Given the description of an element on the screen output the (x, y) to click on. 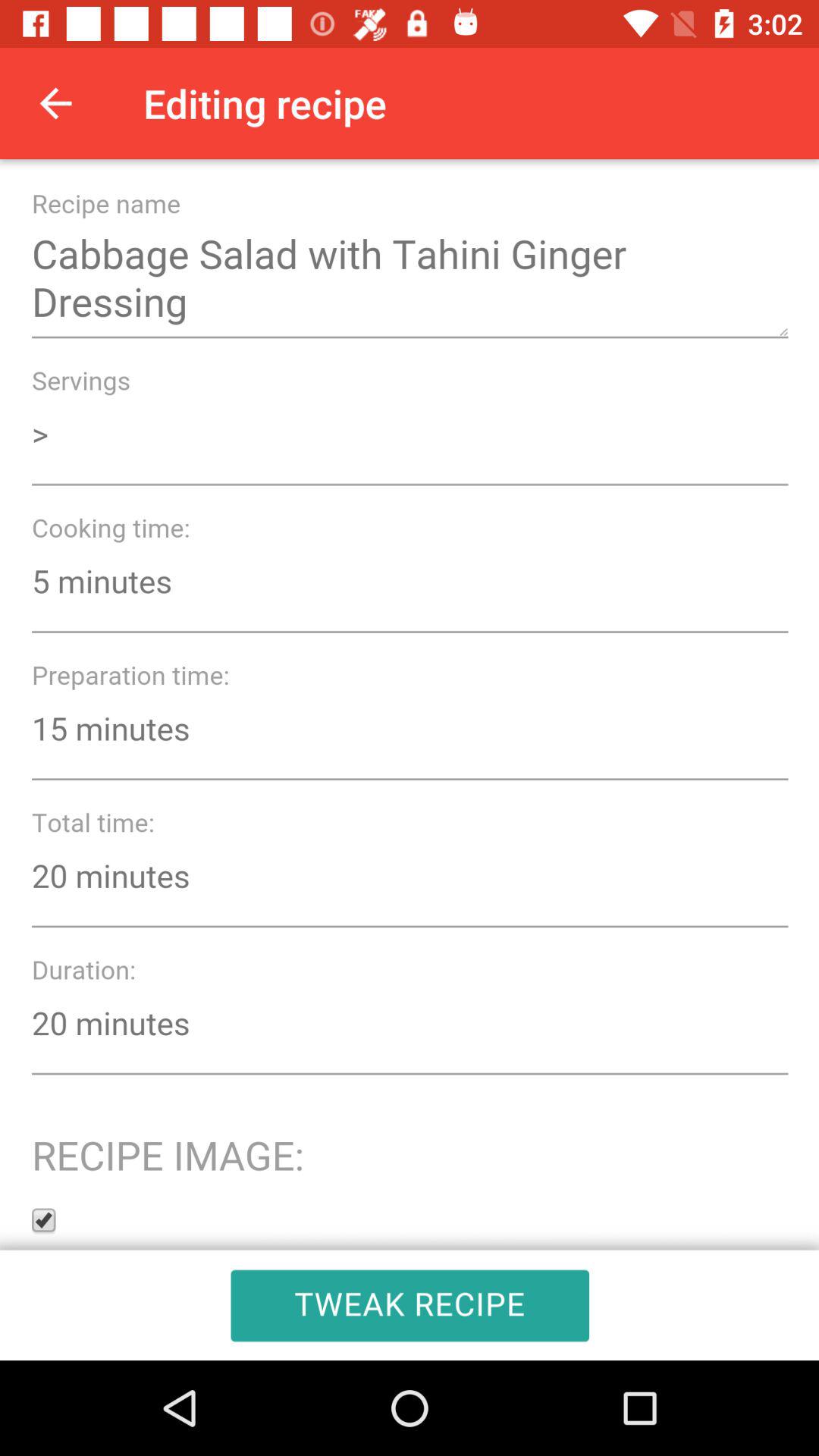
toggle autoplay option (409, 759)
